Given the description of an element on the screen output the (x, y) to click on. 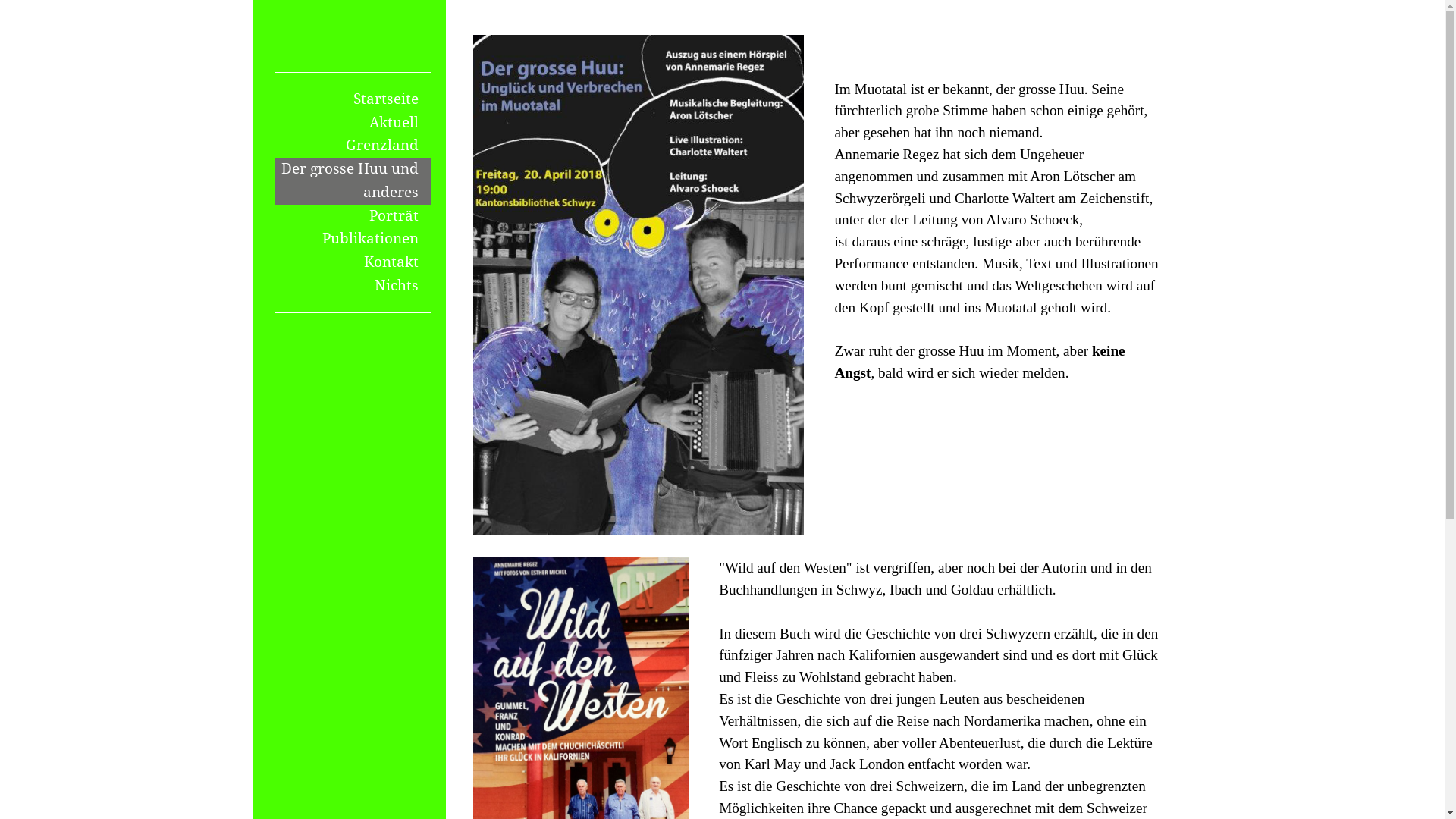
Publikationen Element type: text (352, 239)
Startseite Element type: text (352, 99)
Nichts Element type: text (352, 286)
Aktuell Element type: text (352, 122)
Der grosse Huu und anderes Element type: text (352, 180)
Grenzland Element type: text (352, 145)
Kontakt Element type: text (352, 262)
